Given the description of an element on the screen output the (x, y) to click on. 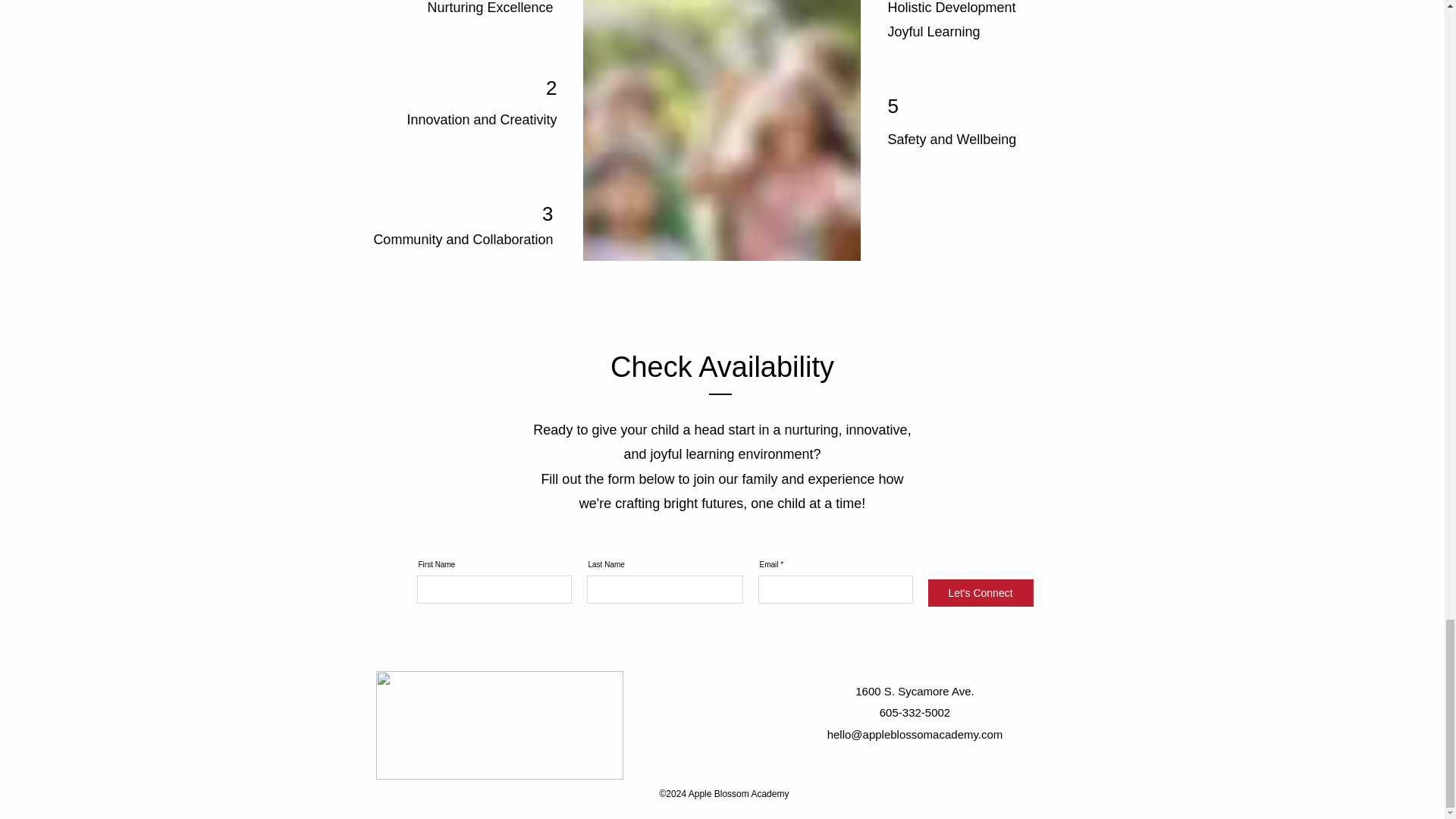
Let's Connect (980, 592)
